Given the description of an element on the screen output the (x, y) to click on. 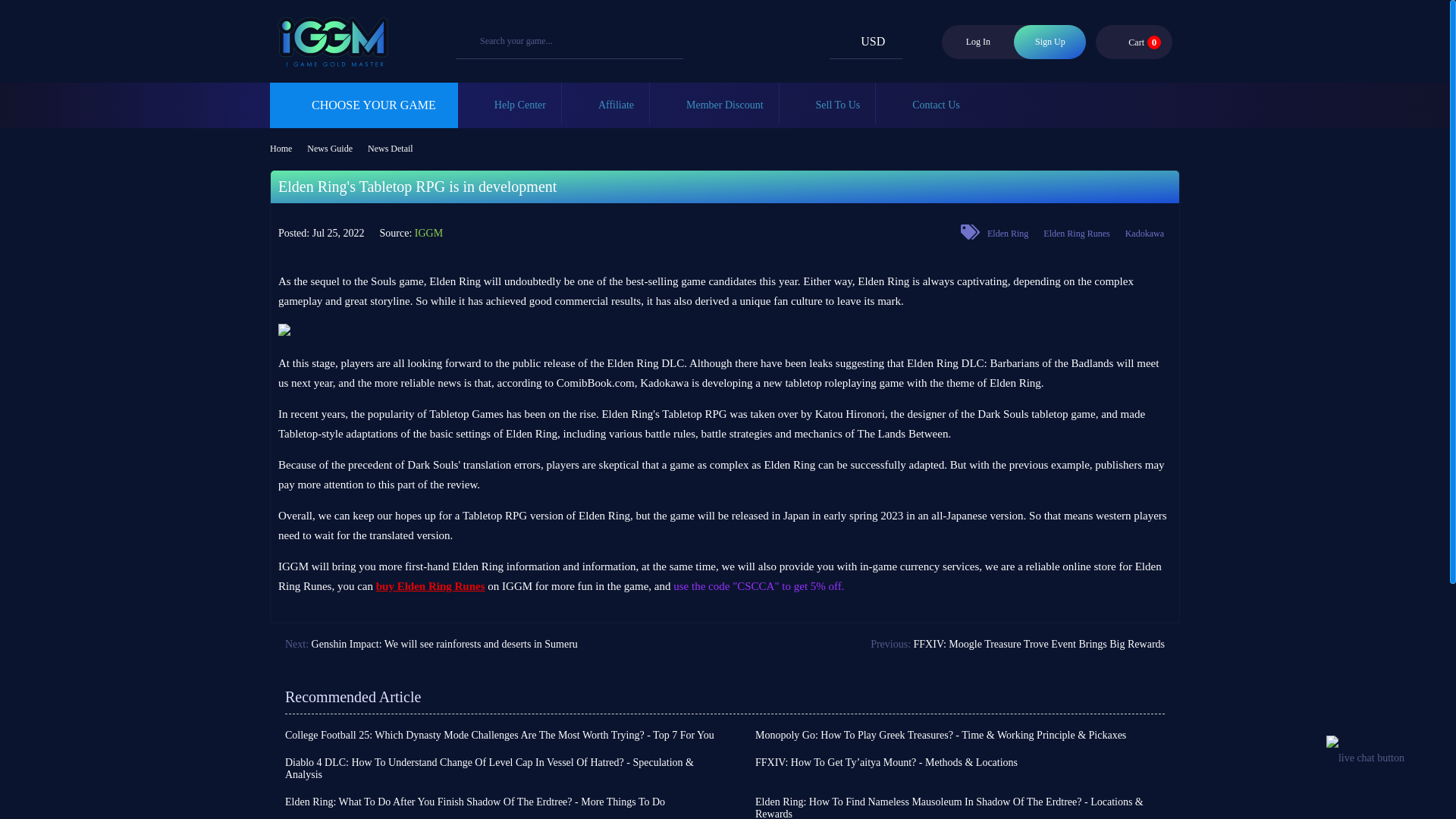
IGGM (328, 60)
Kadokawa (1145, 233)
Log In (977, 41)
Elden Ring (1007, 233)
Sign Up (1049, 41)
Elden Ring Runes (1134, 41)
